Given the description of an element on the screen output the (x, y) to click on. 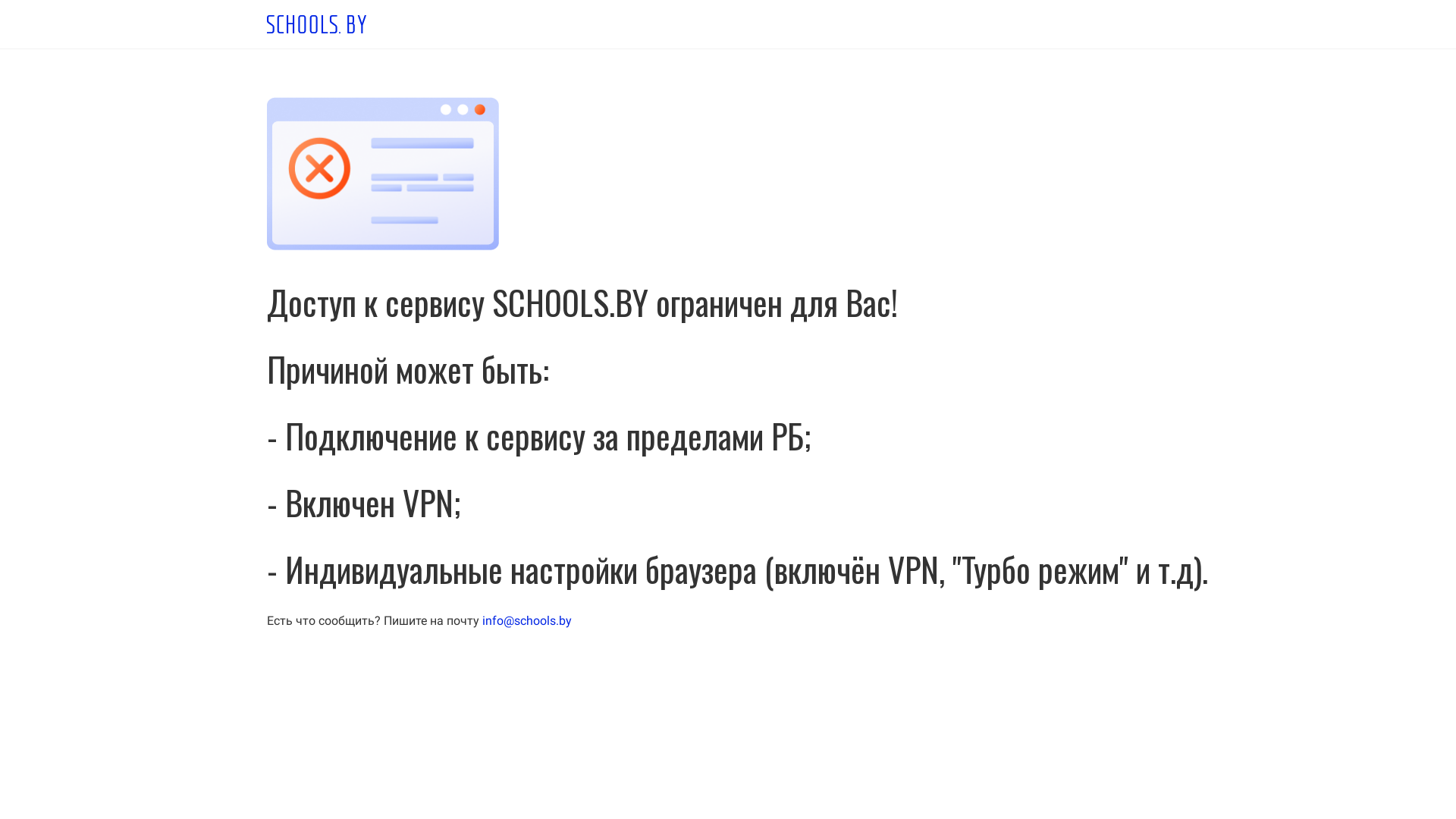
info@schools.by Element type: text (526, 620)
